Given the description of an element on the screen output the (x, y) to click on. 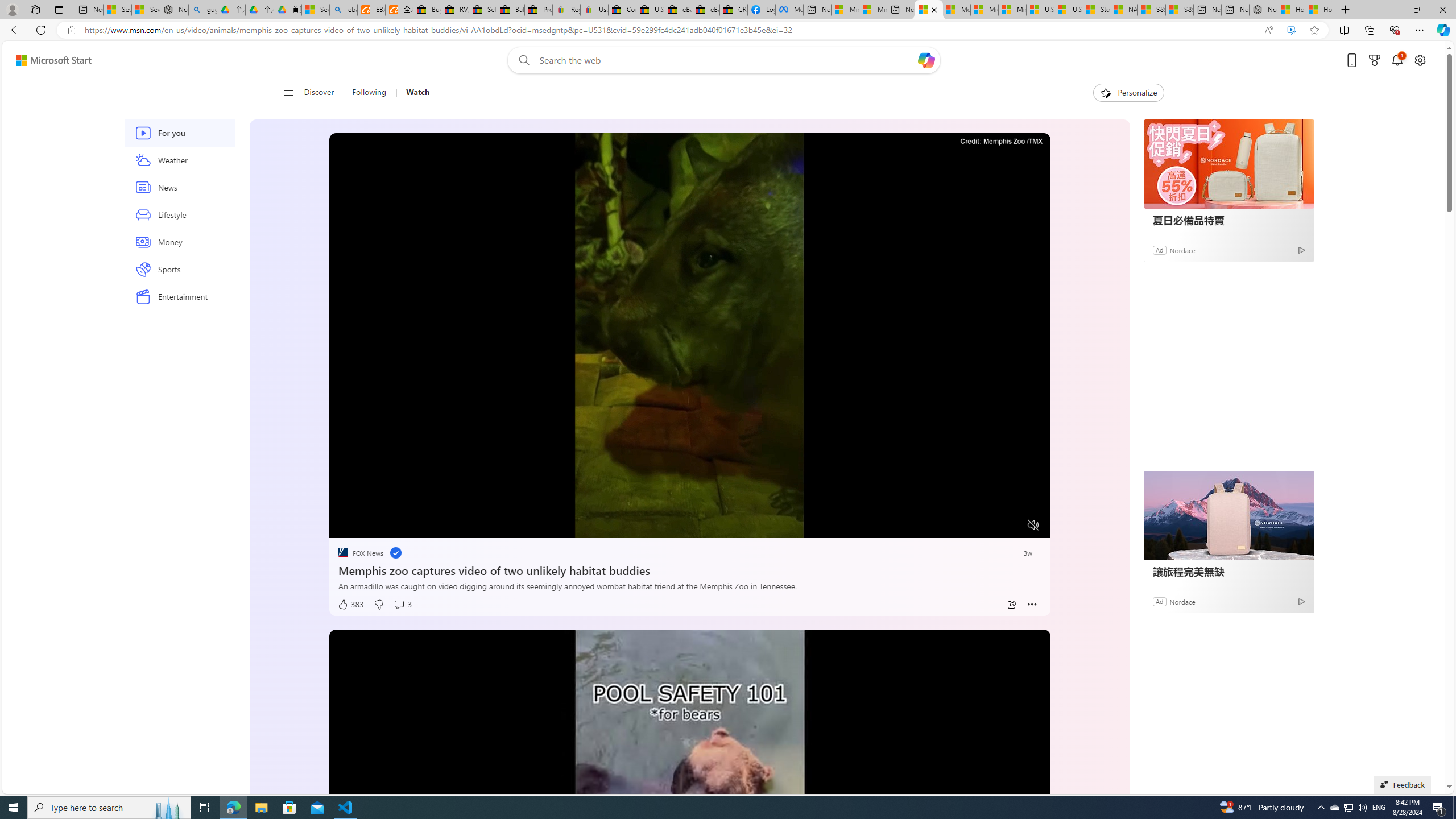
Pause (346, 525)
Consumer Health Data Privacy Policy - eBay Inc. (621, 9)
Share (1010, 604)
